Given the description of an element on the screen output the (x, y) to click on. 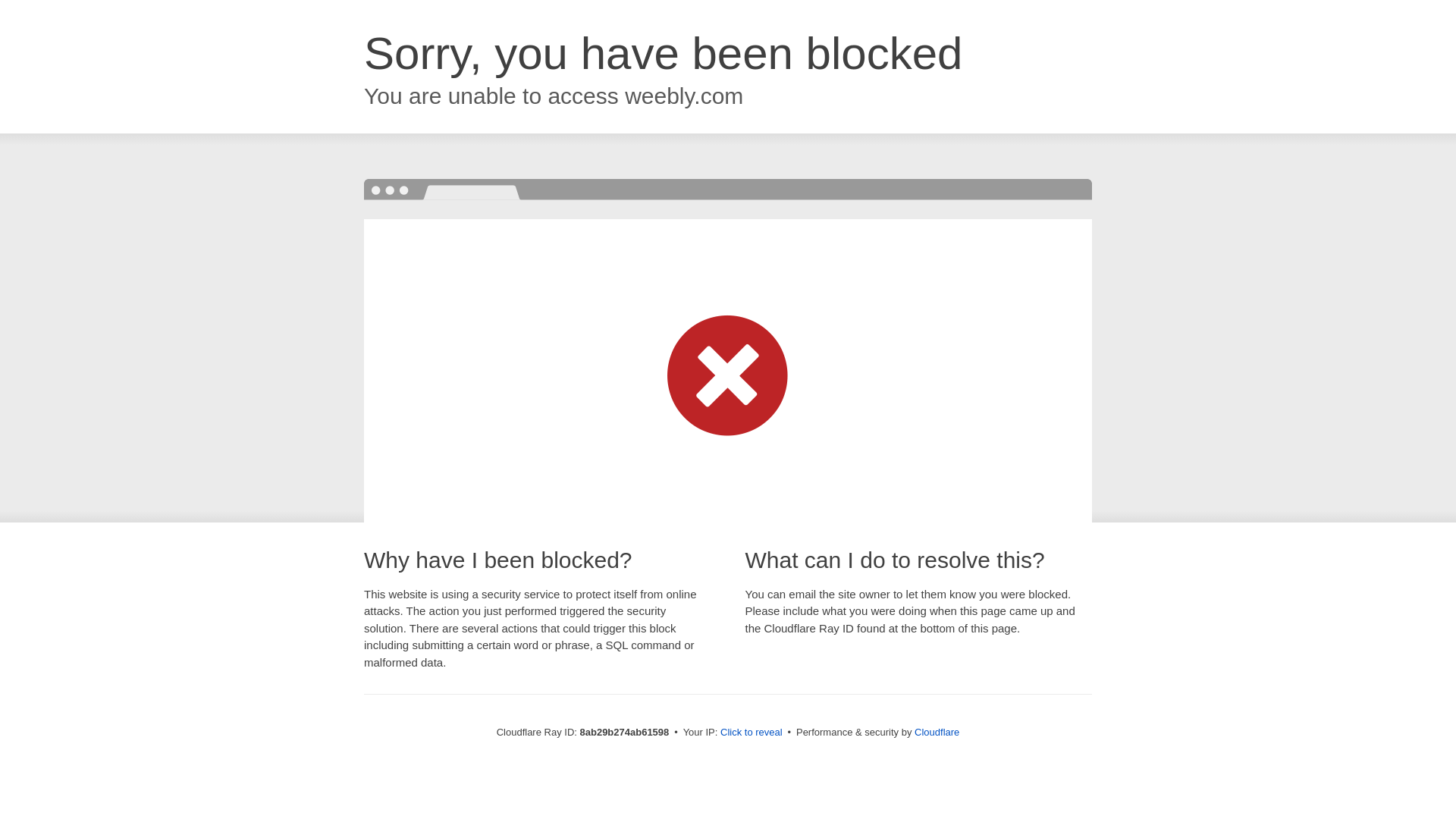
Click to reveal (751, 732)
Cloudflare (936, 731)
